Given the description of an element on the screen output the (x, y) to click on. 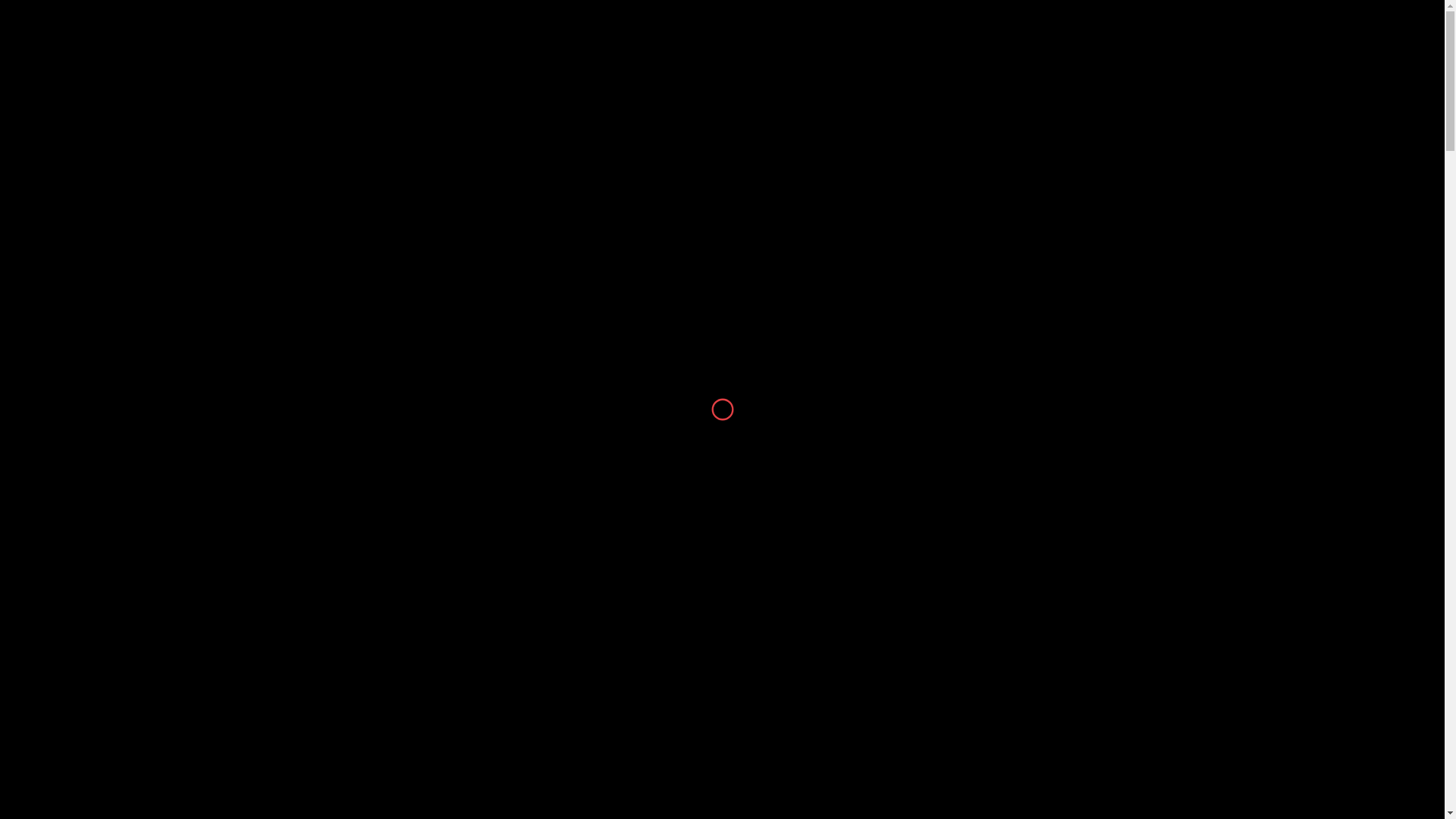
STYLESELL Element type: text (479, 51)
Home Element type: text (291, 90)
VOGUESULTANA Element type: text (739, 51)
MEN Element type: text (365, 51)
0 Element type: text (1378, 51)
SALE Element type: text (652, 51)
ZURI Element type: text (413, 51)
ACCESSORIES Element type: text (571, 51)
WOMEN Element type: text (306, 51)
NEW ARRIVAL Element type: text (217, 51)
helpline@voguebyprince.com.bd Element type: text (232, 13)
STORE LOCATION Element type: text (861, 51)
+88 01844-508351 Element type: text (101, 13)
